Given the description of an element on the screen output the (x, y) to click on. 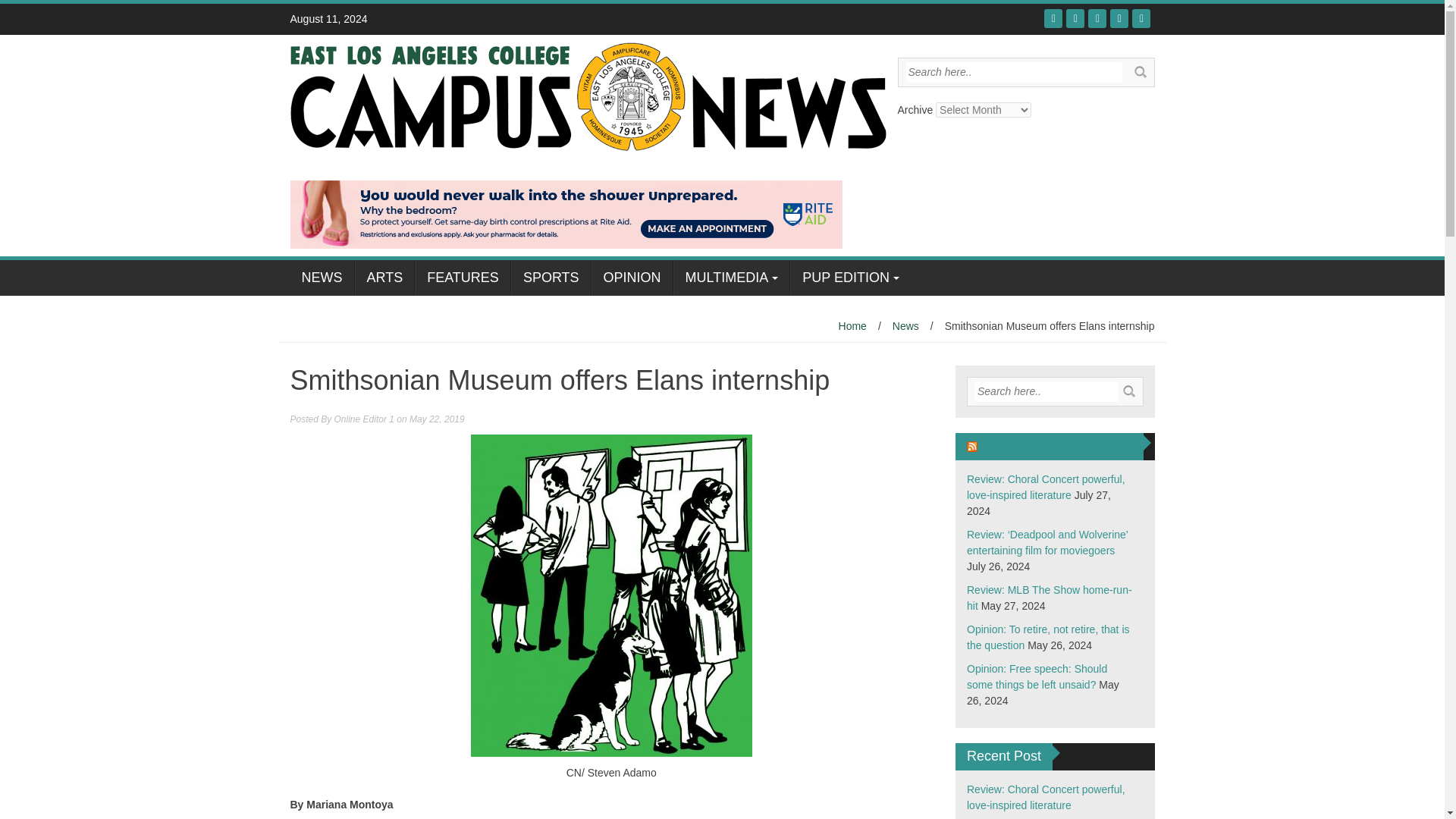
Home (852, 326)
OPINION (631, 277)
MULTIMEDIA (731, 277)
Instagram (1118, 18)
Twitter (1074, 18)
Email (1141, 18)
Online Editor 1 (364, 419)
Search here.. (1013, 72)
NEWS (321, 277)
Search here.. (1046, 391)
